Given the description of an element on the screen output the (x, y) to click on. 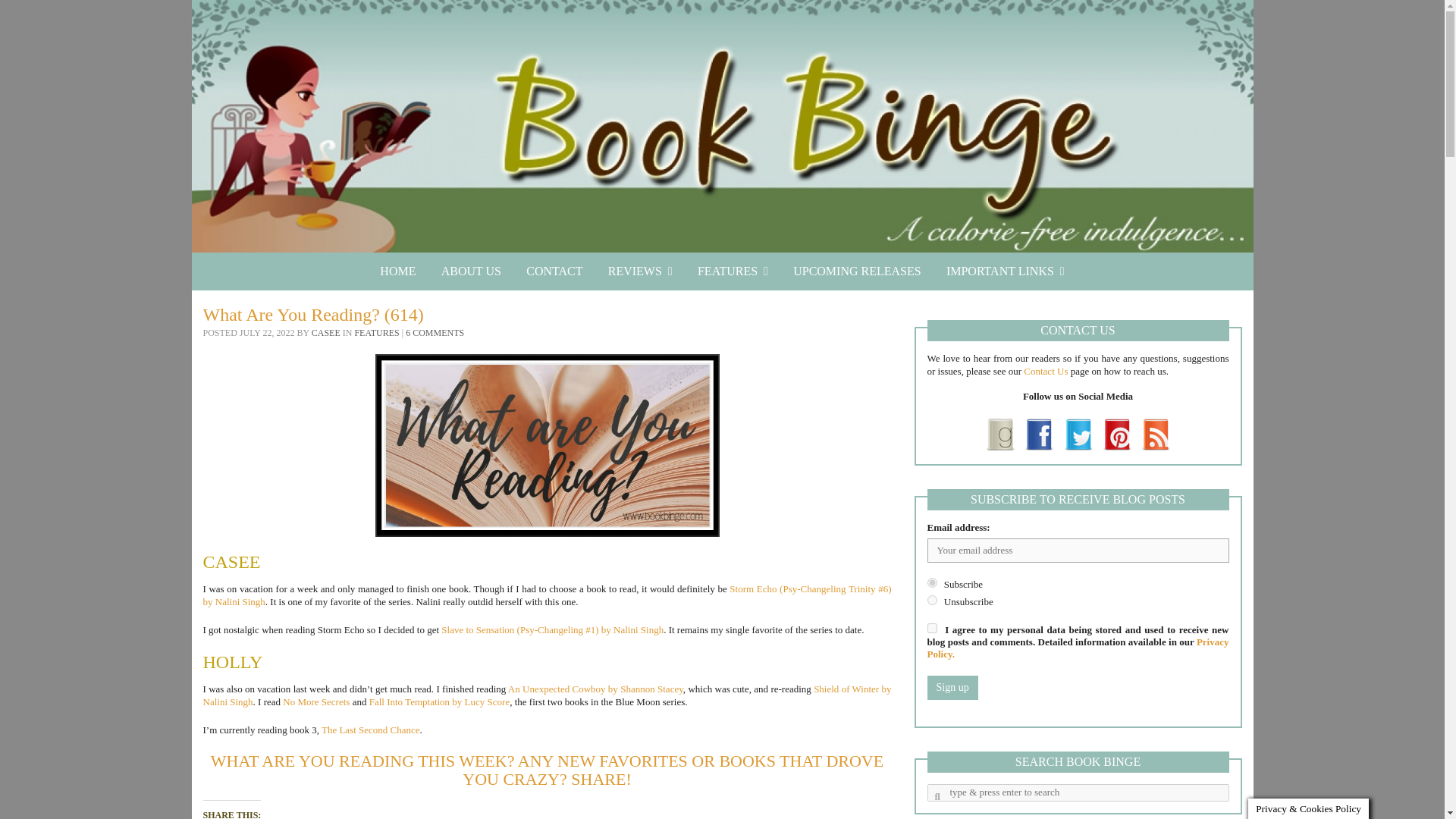
HOME (397, 271)
unsubscribe (931, 600)
CONTACT (554, 271)
Sign up (951, 687)
1 (931, 628)
subscribe (931, 583)
View all posts in Features (375, 332)
REVIEWS   (640, 271)
ABOUT US (470, 271)
